Given the description of an element on the screen output the (x, y) to click on. 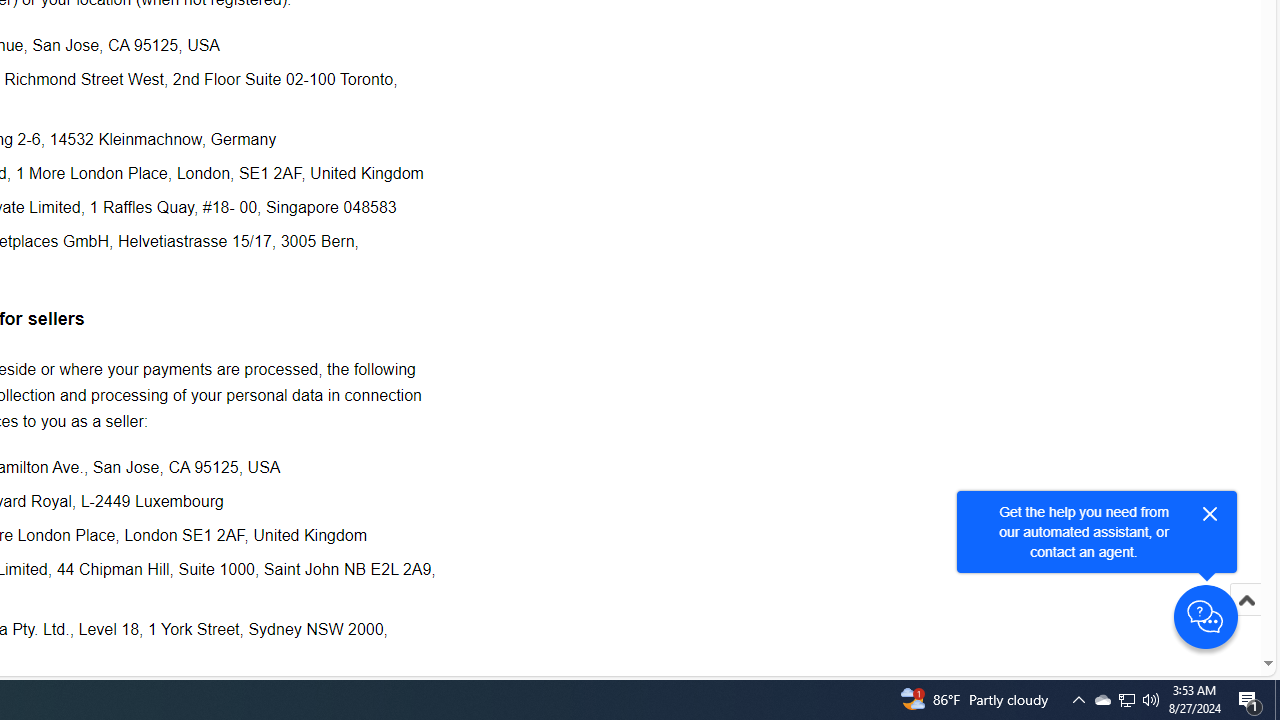
Scroll to top (1246, 599)
Scroll to top (1246, 620)
